Given the description of an element on the screen output the (x, y) to click on. 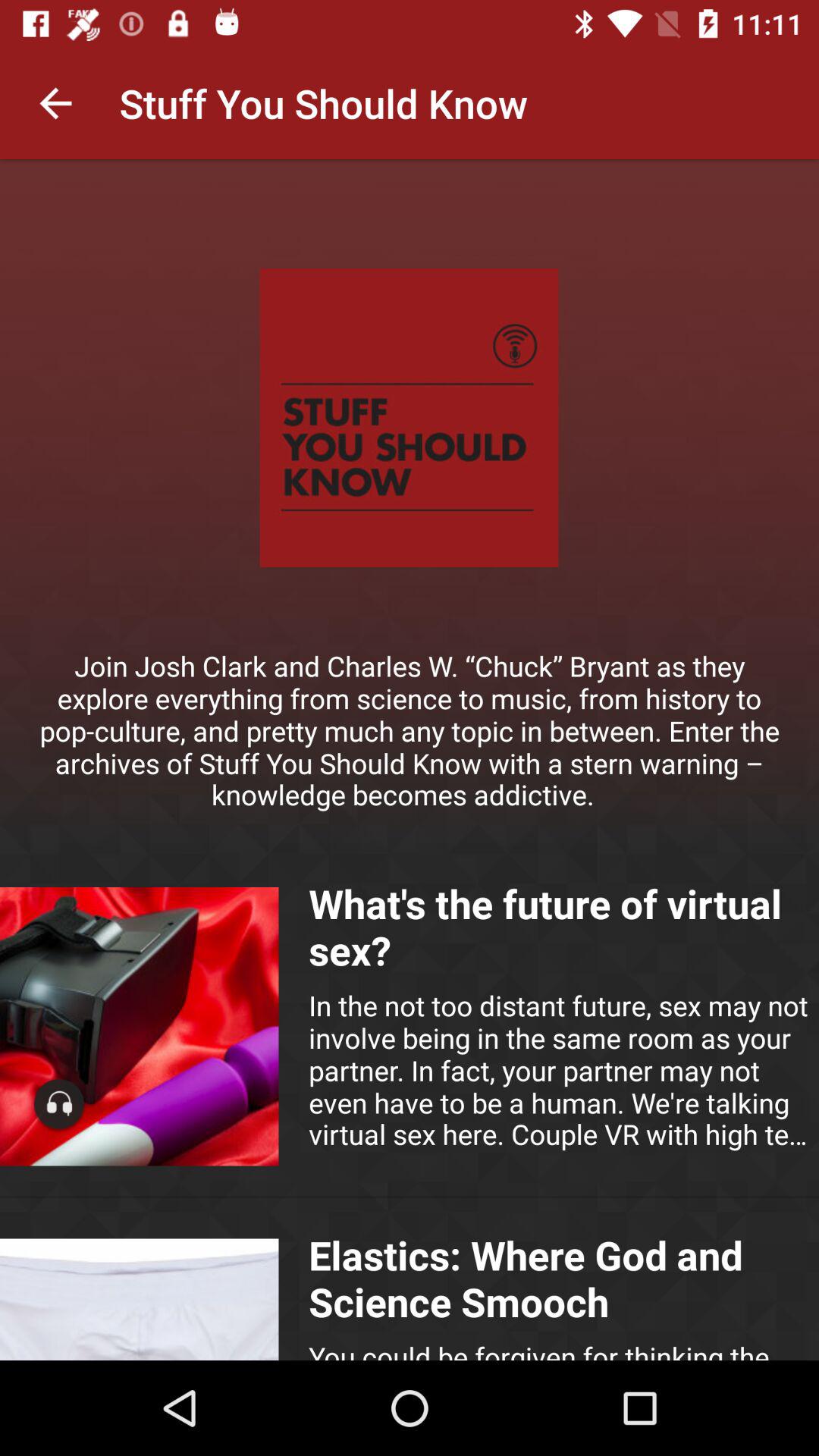
press the icon next to the stuff you should icon (55, 103)
